Given the description of an element on the screen output the (x, y) to click on. 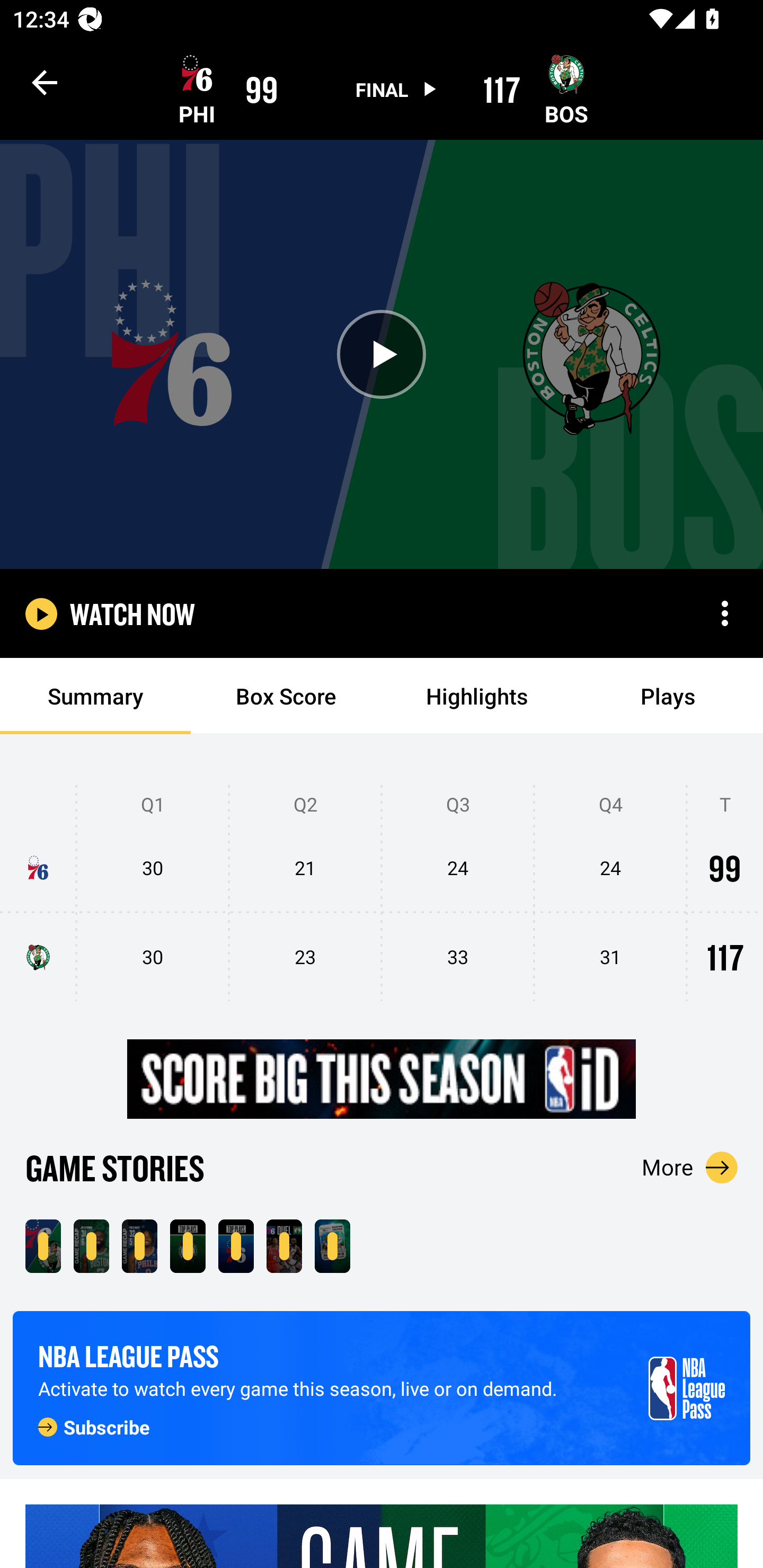
Navigate up (44, 82)
More options (724, 613)
WATCH NOW (132, 613)
Box Score (285, 695)
Highlights (476, 695)
Plays (667, 695)
Q1 Q2 Q3 Q4 T 30 21 24 24 99 30 23 33 31 117 (381, 893)
More (689, 1166)
NEW BOS 117, PHI 99 - Feb 27 (43, 1246)
NEW Highlights From Jaylen Brown's 31-Point Game (91, 1246)
NEW Highlights From Tyrese Maxey's 32-Point Game (139, 1246)
NEW BOS's Top Plays from PHI vs. BOS (187, 1246)
NEW PHI's Top Plays from PHI vs. BOS (236, 1246)
Maxey & Brown Show Out In Faceoff NEW (284, 1246)
Eastern Conference Clash: 76ers Vs. Celtics ⚔️ NEW (332, 1246)
